Given the description of an element on the screen output the (x, y) to click on. 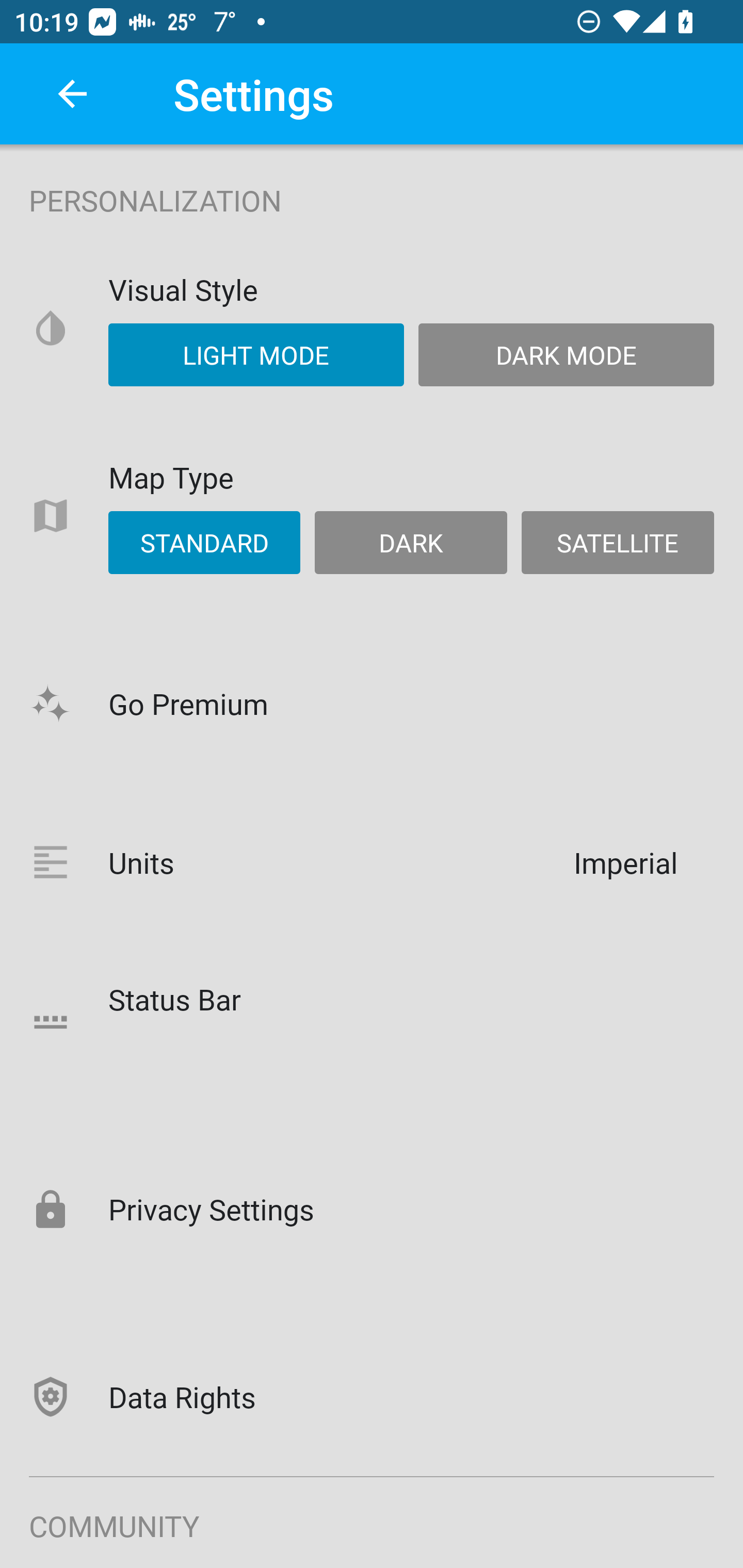
back (71, 93)
LIGHT MODE (256, 354)
DARK MODE (566, 354)
STANDARD (204, 542)
DARK (411, 542)
SATELLITE (617, 542)
Go Premium (371, 703)
Units Imperial (371, 862)
Status Bar (371, 1021)
Privacy Settings (371, 1208)
Data Rights (371, 1396)
